Given the description of an element on the screen output the (x, y) to click on. 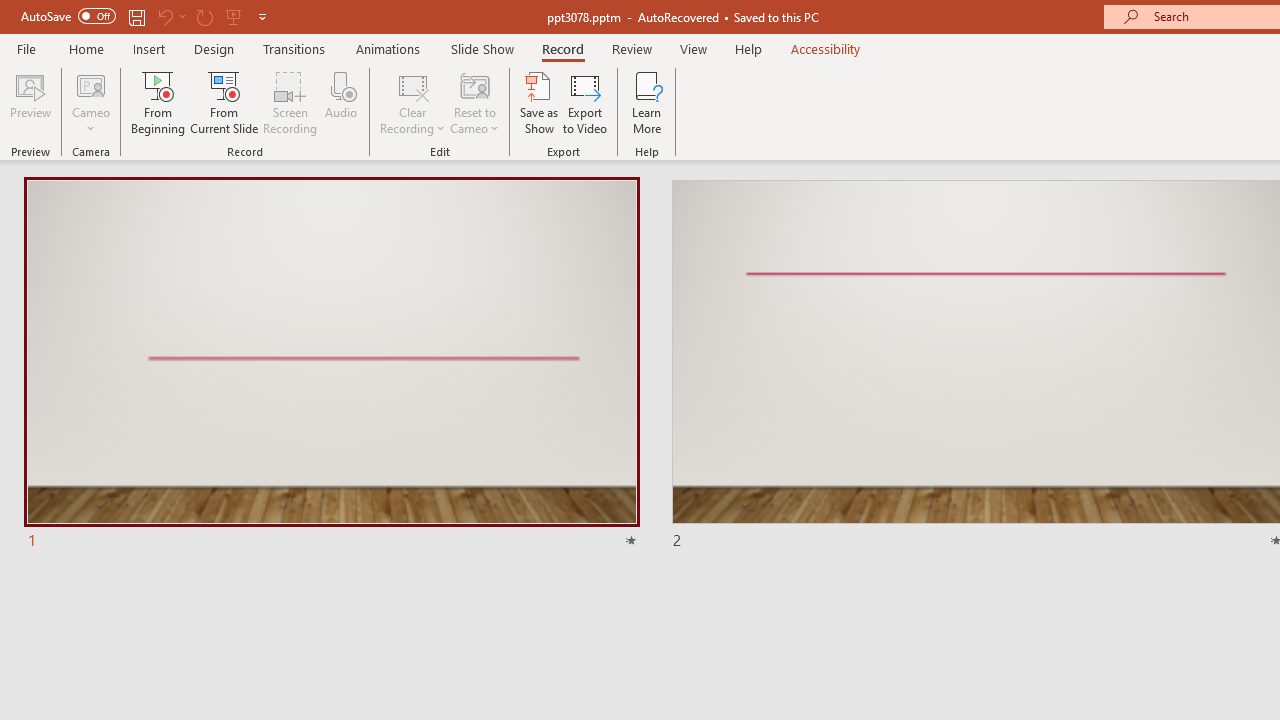
Audio (341, 102)
Save as Show (539, 102)
Reset to Cameo (474, 102)
Learn More (646, 102)
